Given the description of an element on the screen output the (x, y) to click on. 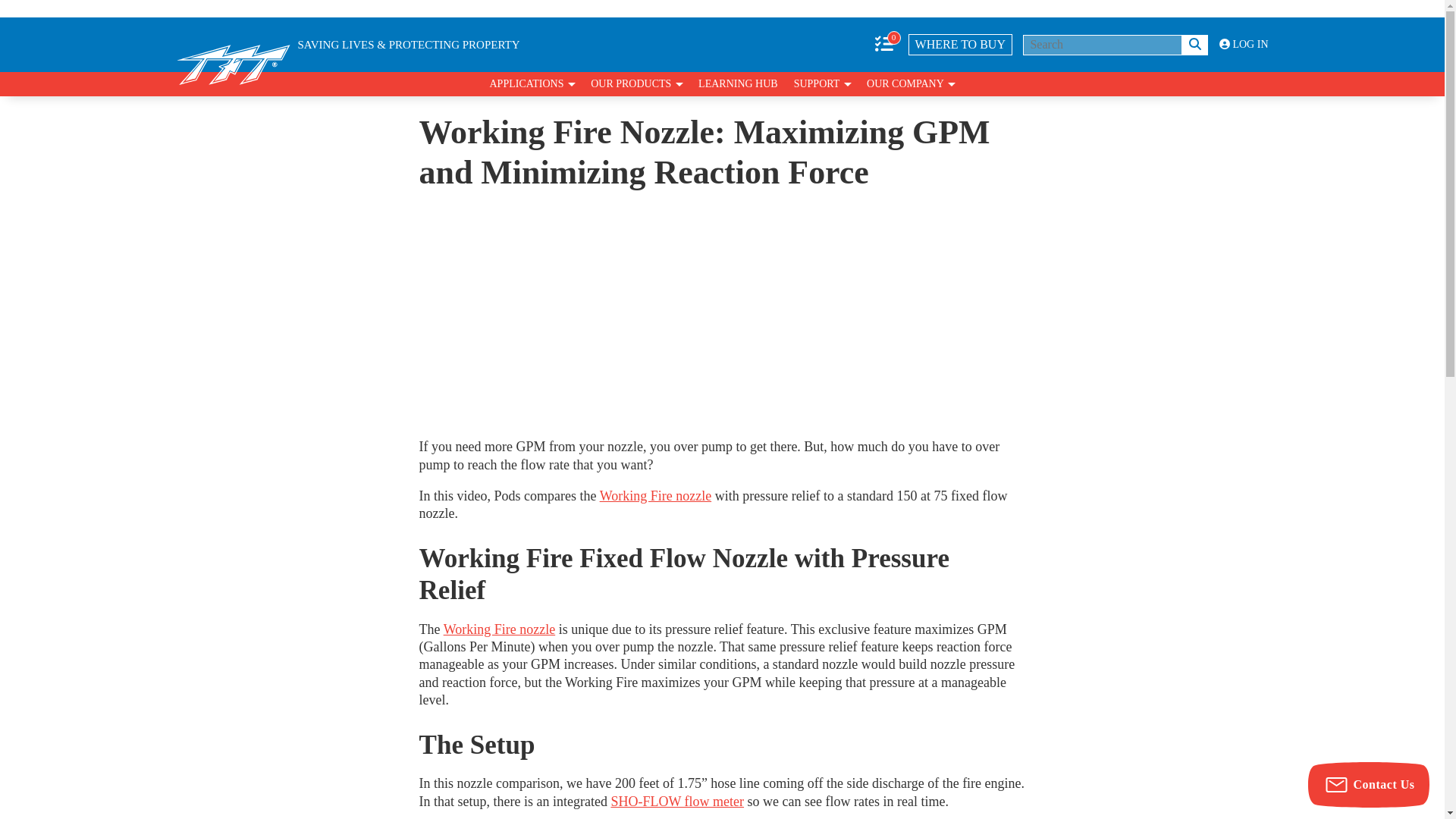
OUR COMPANY (910, 84)
LEARNING HUB (738, 84)
WHERE TO BUY (959, 44)
LOG IN (1244, 44)
APPLICATIONS (532, 84)
SUPPORT (822, 84)
Working Fire nozzle (500, 629)
Working Fire nozzle (655, 495)
SHO-FLOW flow meter (677, 800)
OUR PRODUCTS (636, 84)
